Given the description of an element on the screen output the (x, y) to click on. 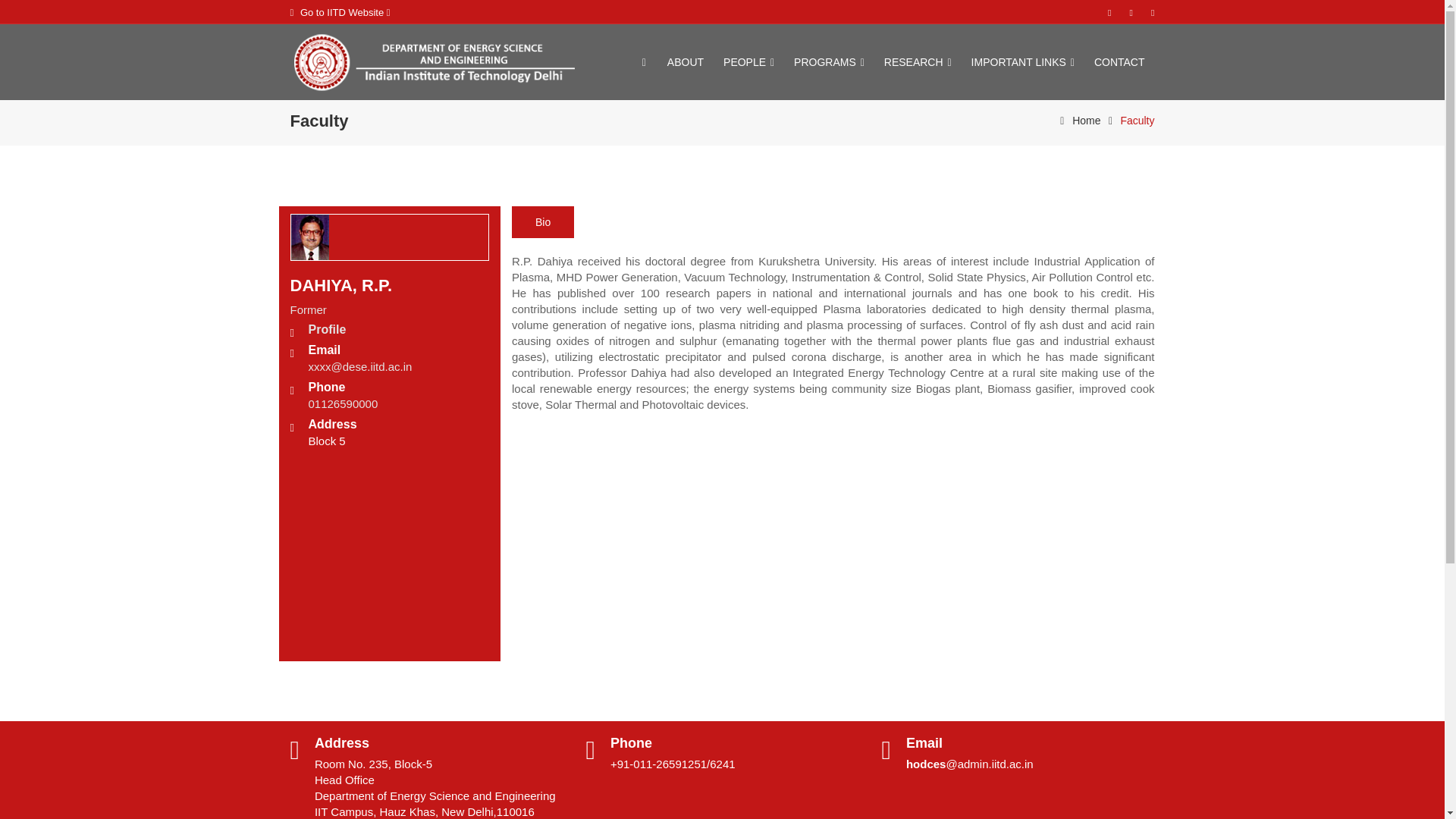
Home (1077, 120)
PROGRAMS (829, 61)
Go to IITD Website (346, 12)
IMPORTANT LINKS (1022, 61)
01126590000 (342, 403)
Bio (542, 222)
ABOUT (685, 61)
CONTACT (1119, 61)
RESEARCH (917, 61)
Profile (326, 328)
PEOPLE (748, 61)
